Given the description of an element on the screen output the (x, y) to click on. 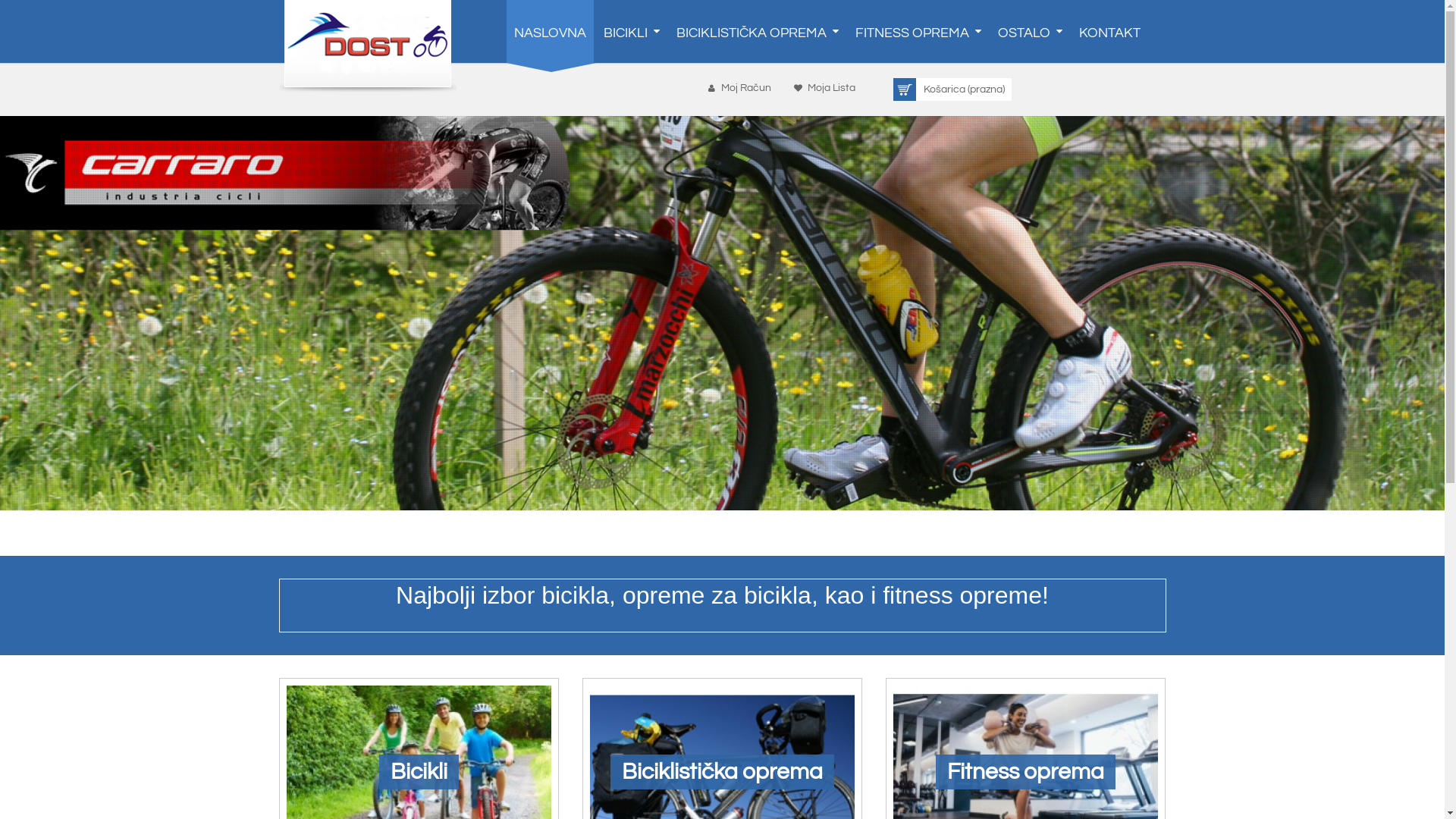
KONTAKT Element type: text (1108, 31)
Bicikli Element type: text (418, 771)
BICIKLI Element type: text (631, 31)
DOST d.o.o. Element type: hover (367, 46)
FITNESS OPREMA Element type: text (917, 31)
Fitness oprema Element type: text (1025, 771)
NASLOVNA Element type: text (549, 31)
Moja Lista Element type: text (821, 87)
